Given the description of an element on the screen output the (x, y) to click on. 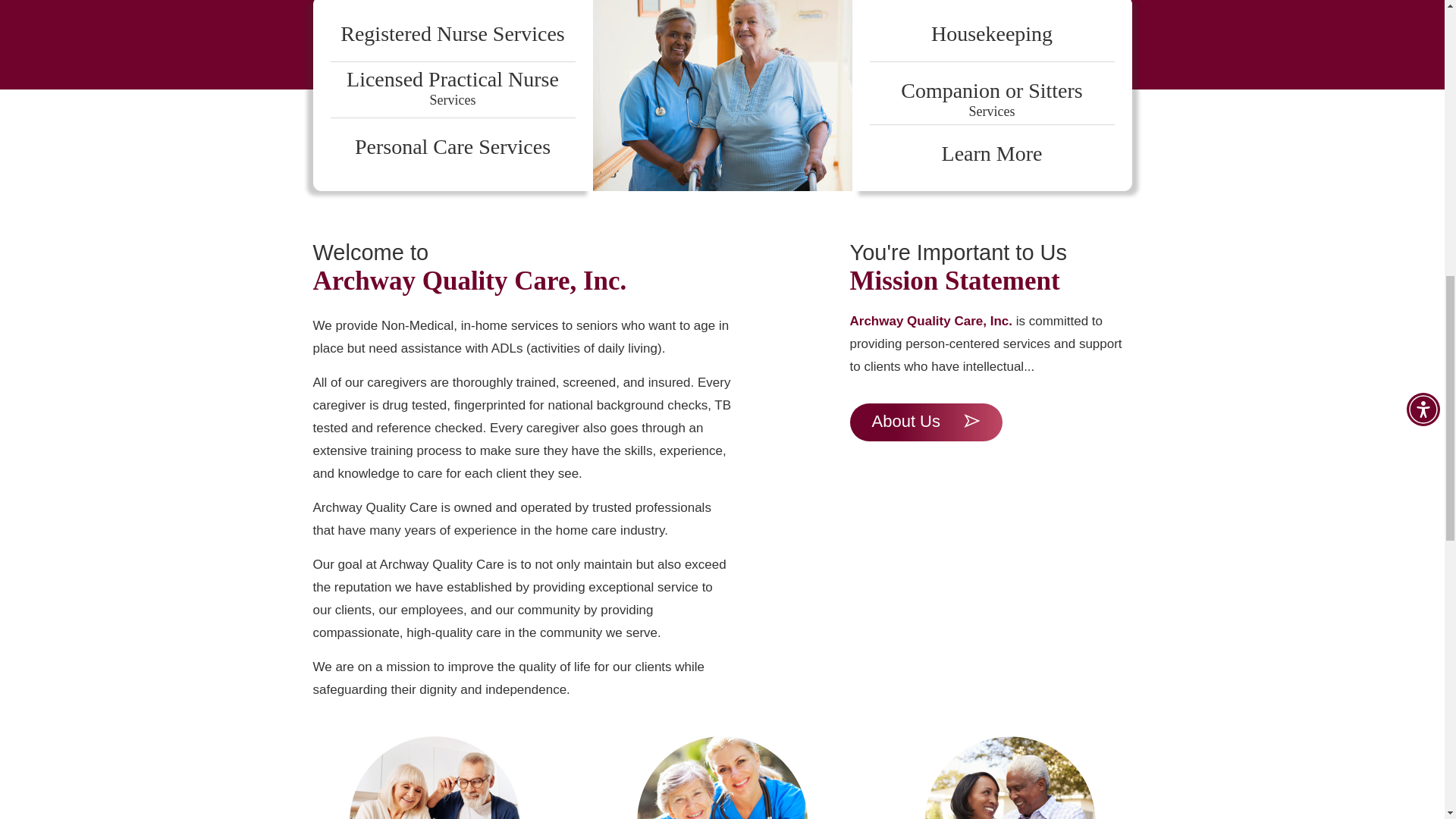
About Us (452, 85)
Registered Nurse Services (924, 422)
Learn More (452, 33)
Personal Care Services (992, 153)
Housekeeping (991, 96)
